Given the description of an element on the screen output the (x, y) to click on. 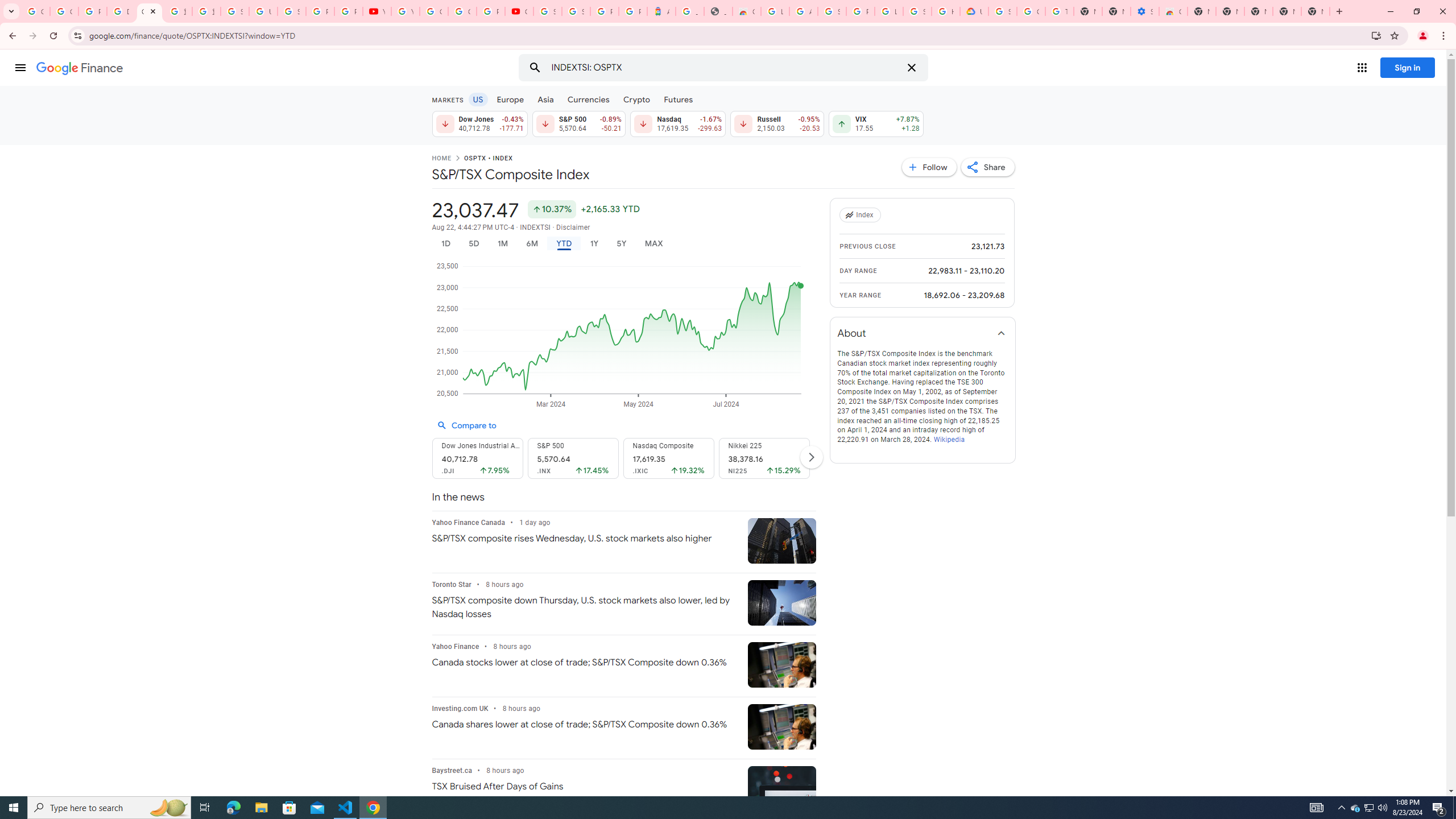
Ad Settings (803, 11)
Crypto (636, 99)
Asia (545, 99)
Install Google Finance (1376, 35)
Finance (79, 68)
Dow Jones 40,712.78 Down by 0.43% -177.71 (478, 123)
Search for stocks, ETFs & more (724, 67)
Chrome Web Store - Household (746, 11)
